Given the description of an element on the screen output the (x, y) to click on. 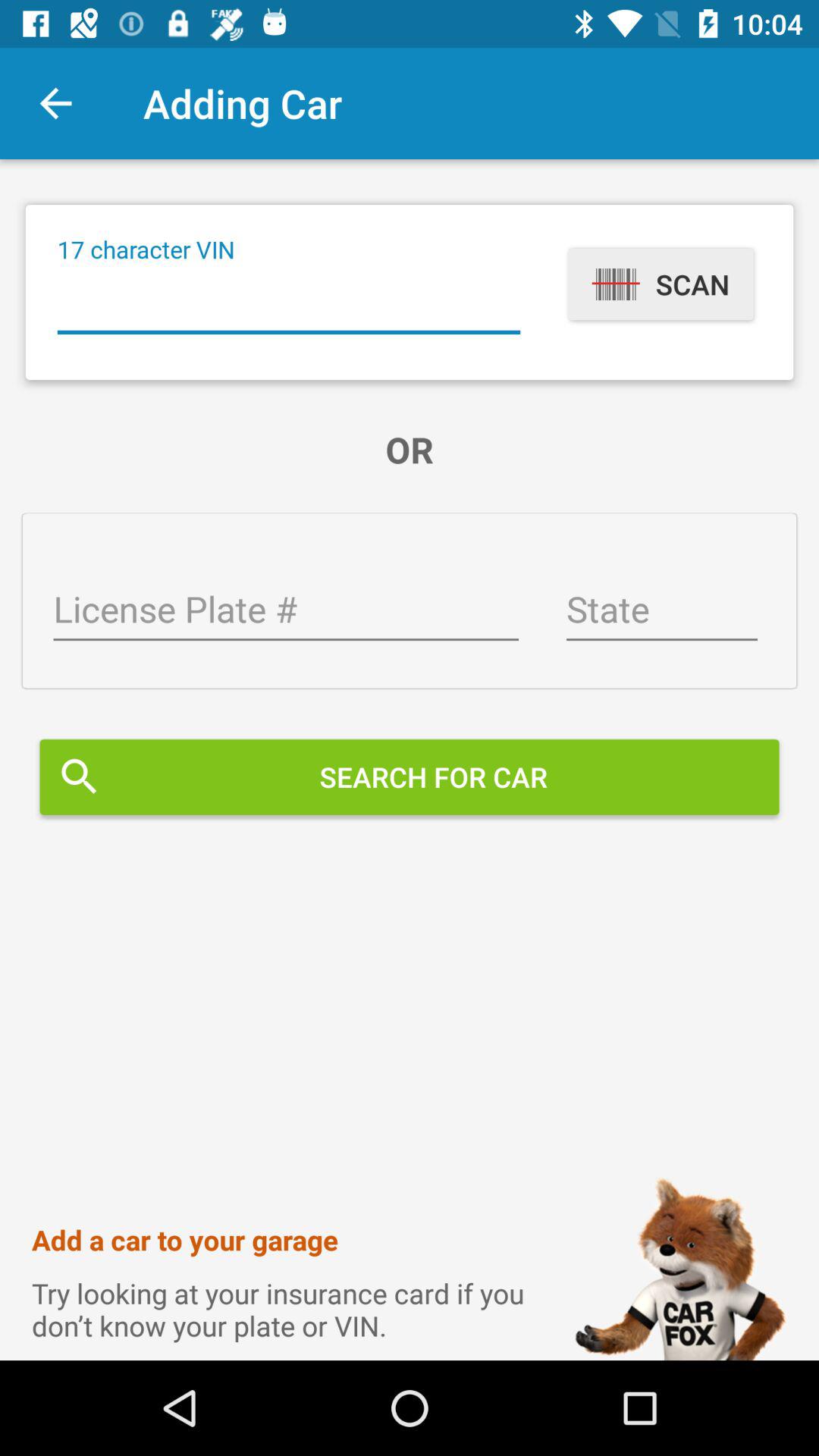
state field (661, 611)
